Given the description of an element on the screen output the (x, y) to click on. 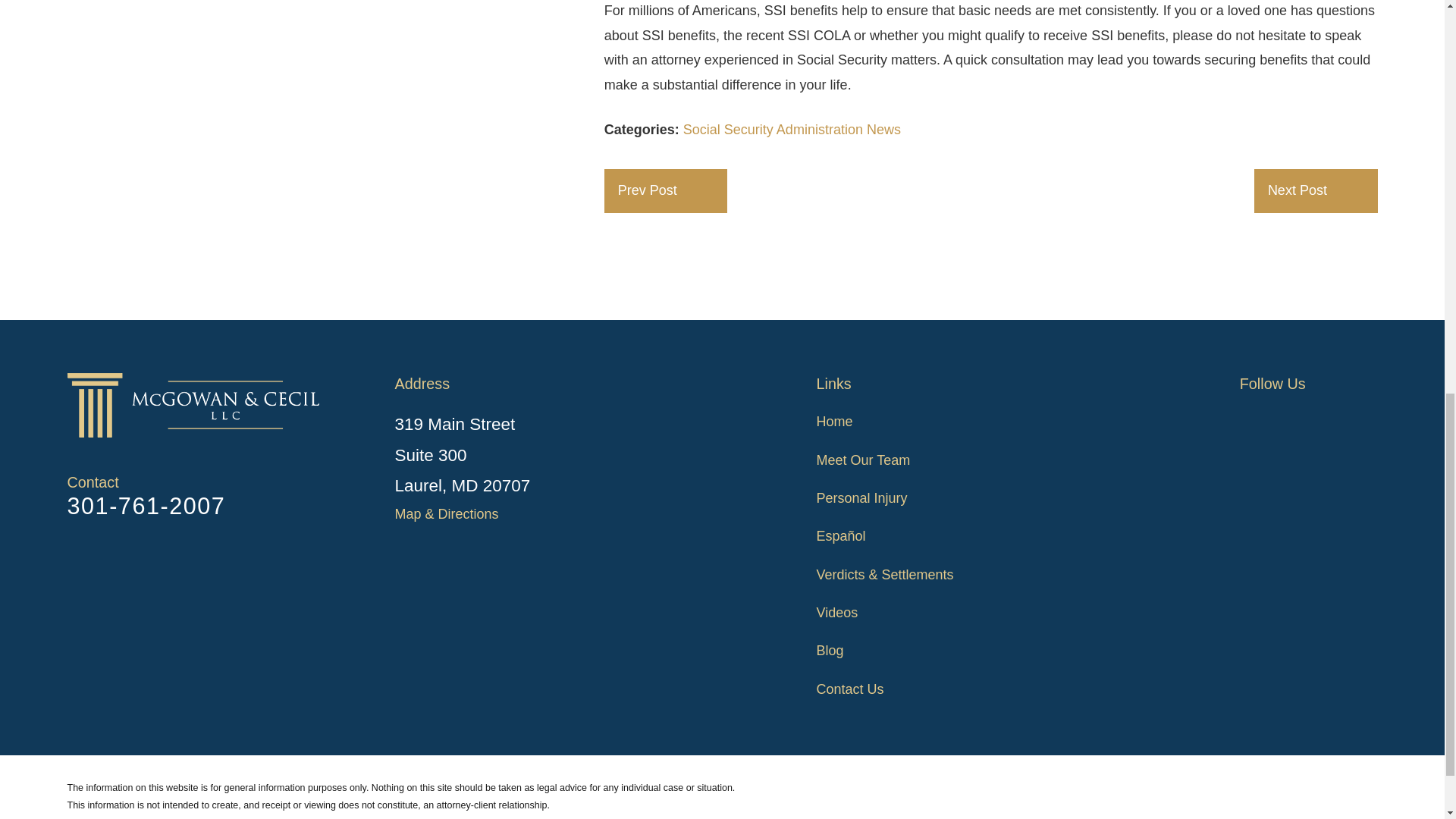
Facebook (1249, 418)
Home (198, 405)
Google Business Profile (1328, 418)
LinkedIn (1367, 418)
Twitter (1288, 418)
